Given the description of an element on the screen output the (x, y) to click on. 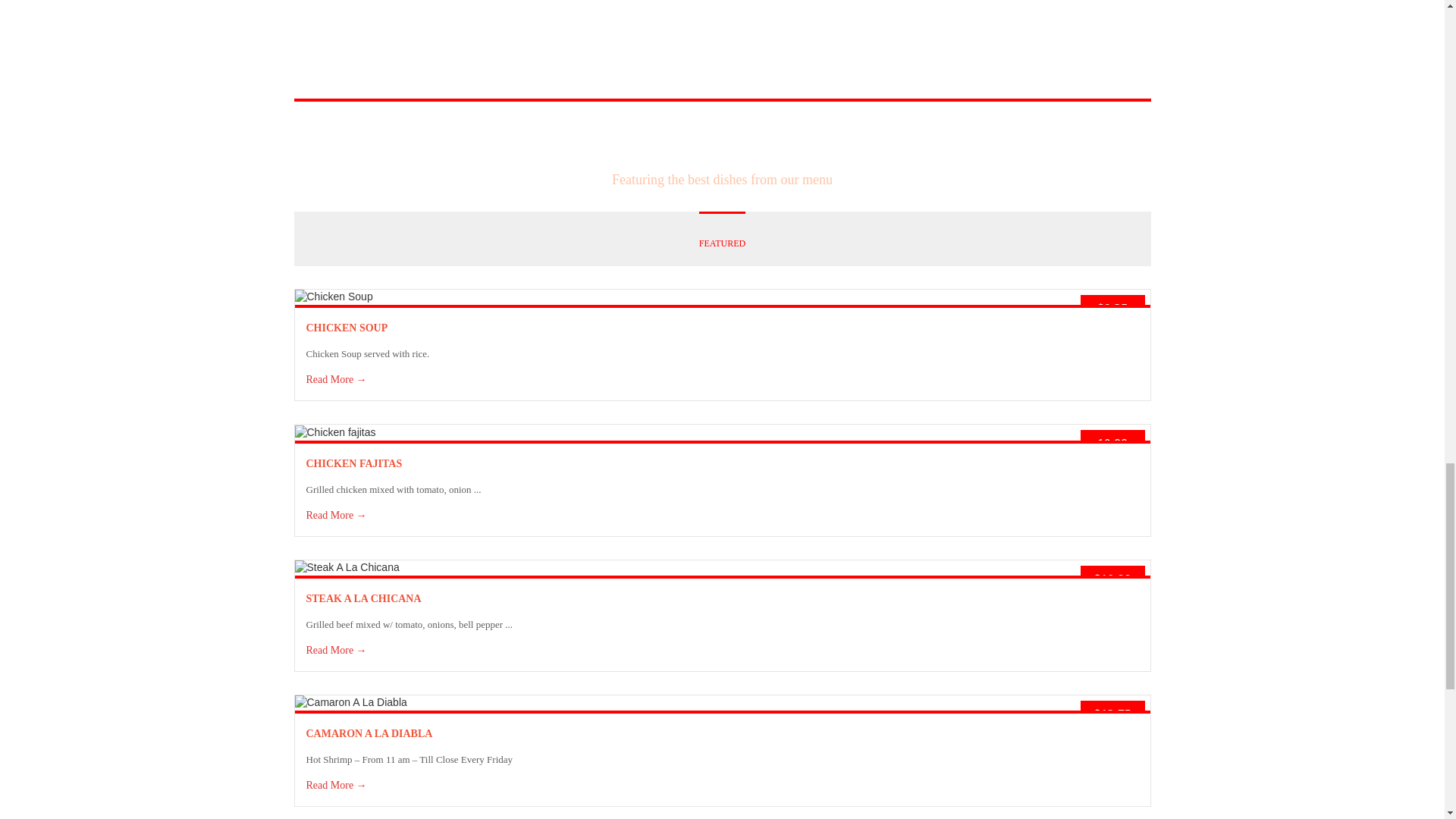
CHICKEN SOUP (346, 327)
FEATURED (721, 234)
CAMARON A LA DIABLA (368, 733)
CHICKEN FAJITAS (354, 463)
STEAK A LA CHICANA (363, 598)
